Given the description of an element on the screen output the (x, y) to click on. 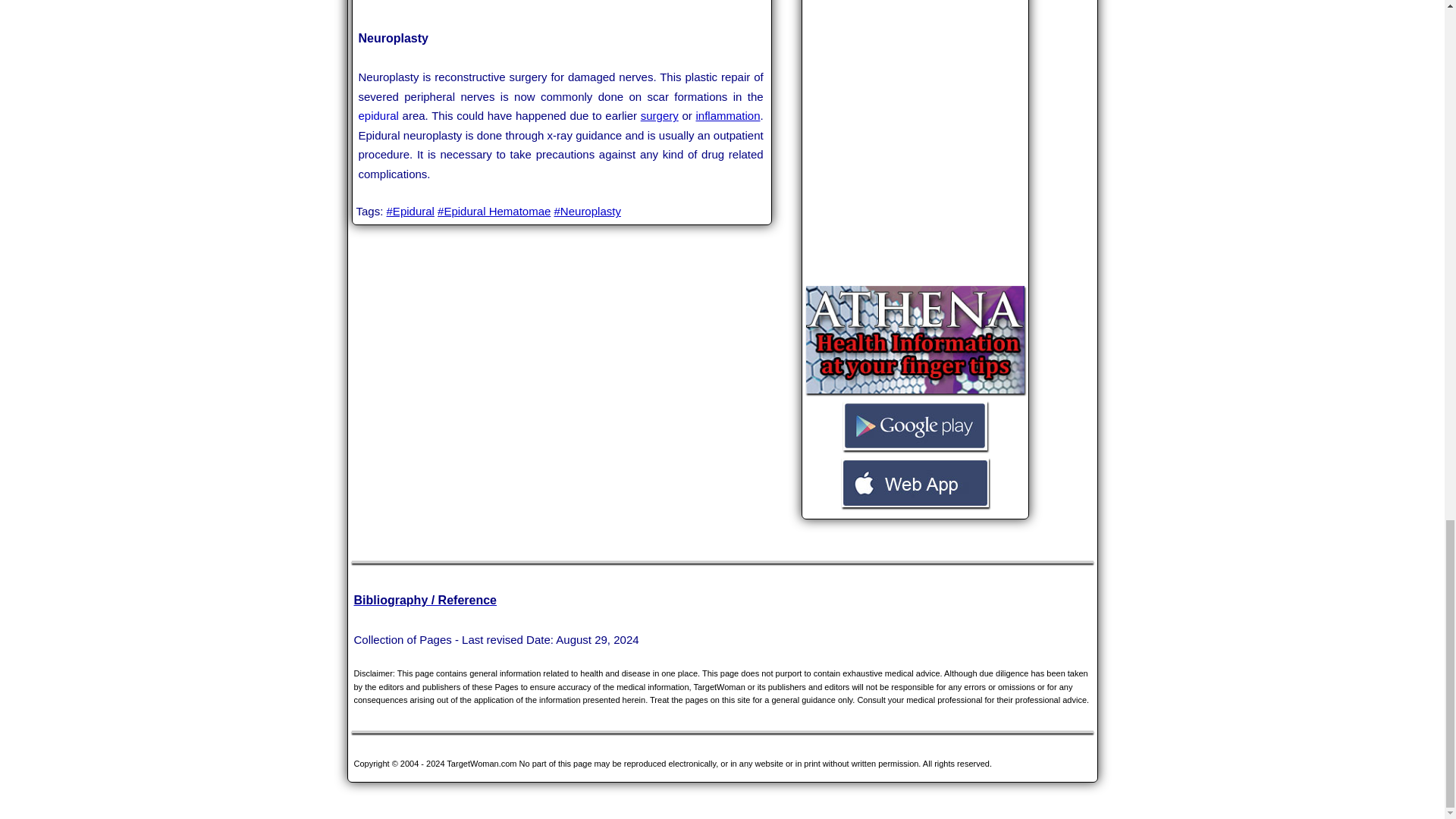
epidural (377, 115)
Free WebApp for Apple iPhones (914, 504)
surgery (659, 115)
inflammation (727, 115)
Free Android Health App (915, 448)
epidural (377, 115)
Check all your health queries right from your mobile (915, 391)
surgery (659, 115)
Advertisement (561, 4)
inflammation (727, 115)
